Given the description of an element on the screen output the (x, y) to click on. 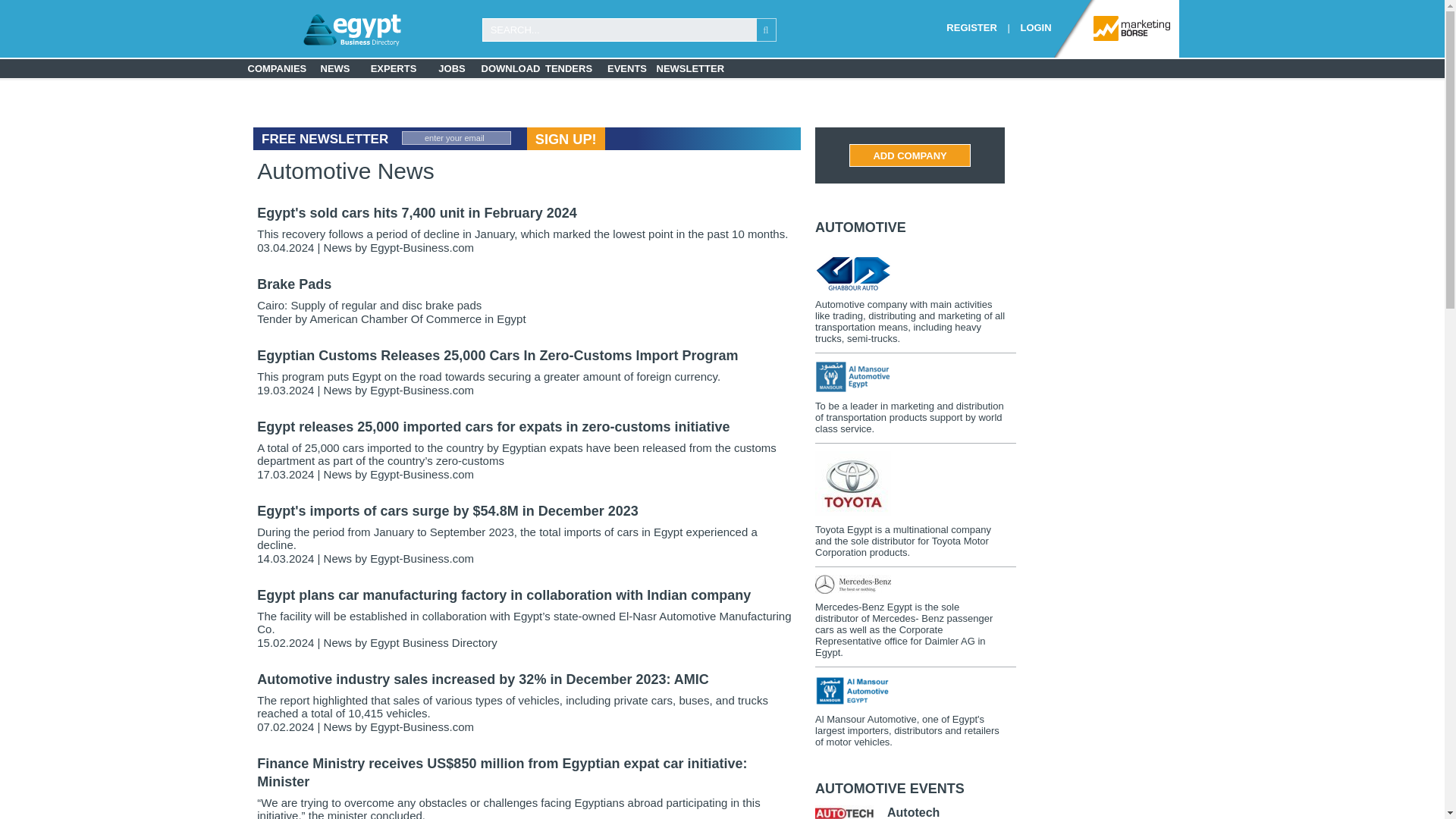
SIGN UP! (566, 138)
Brake Pads (294, 283)
Egypt-Business.com (421, 473)
EXPERTS (393, 67)
EVENTS (626, 67)
JOBS (452, 67)
American Chamber Of Commerce in Egypt (416, 318)
REGISTER (970, 27)
Egypt-Business.com (421, 558)
Egypt's sold cars hits 7,400 unit in February 2024 (416, 212)
Egypt-Business.com (421, 390)
LOGIN (1035, 27)
egypt-business.com (312, 30)
